Given the description of an element on the screen output the (x, y) to click on. 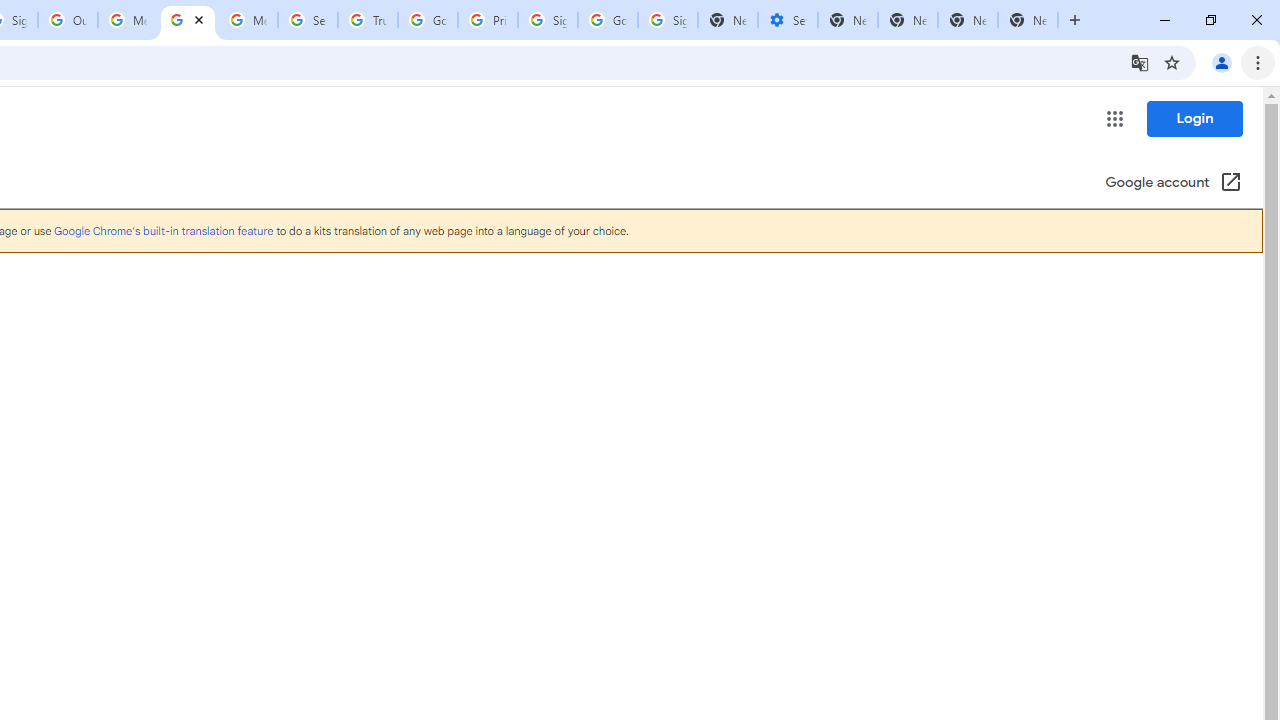
Settings - Performance (787, 20)
Google Chrome's built-in translation feature (163, 230)
Google Cybersecurity Innovations - Google Safety Center (607, 20)
Google Account (Opens in new window) (1173, 183)
How do I create a new Google Account? - Google Account Help (187, 20)
Search our Doodle Library Collection - Google Doodles (307, 20)
You (1221, 62)
Google Ads - Sign in (428, 20)
New Tab (968, 20)
New Tab (1028, 20)
Close (198, 19)
Restore (1210, 20)
